Given the description of an element on the screen output the (x, y) to click on. 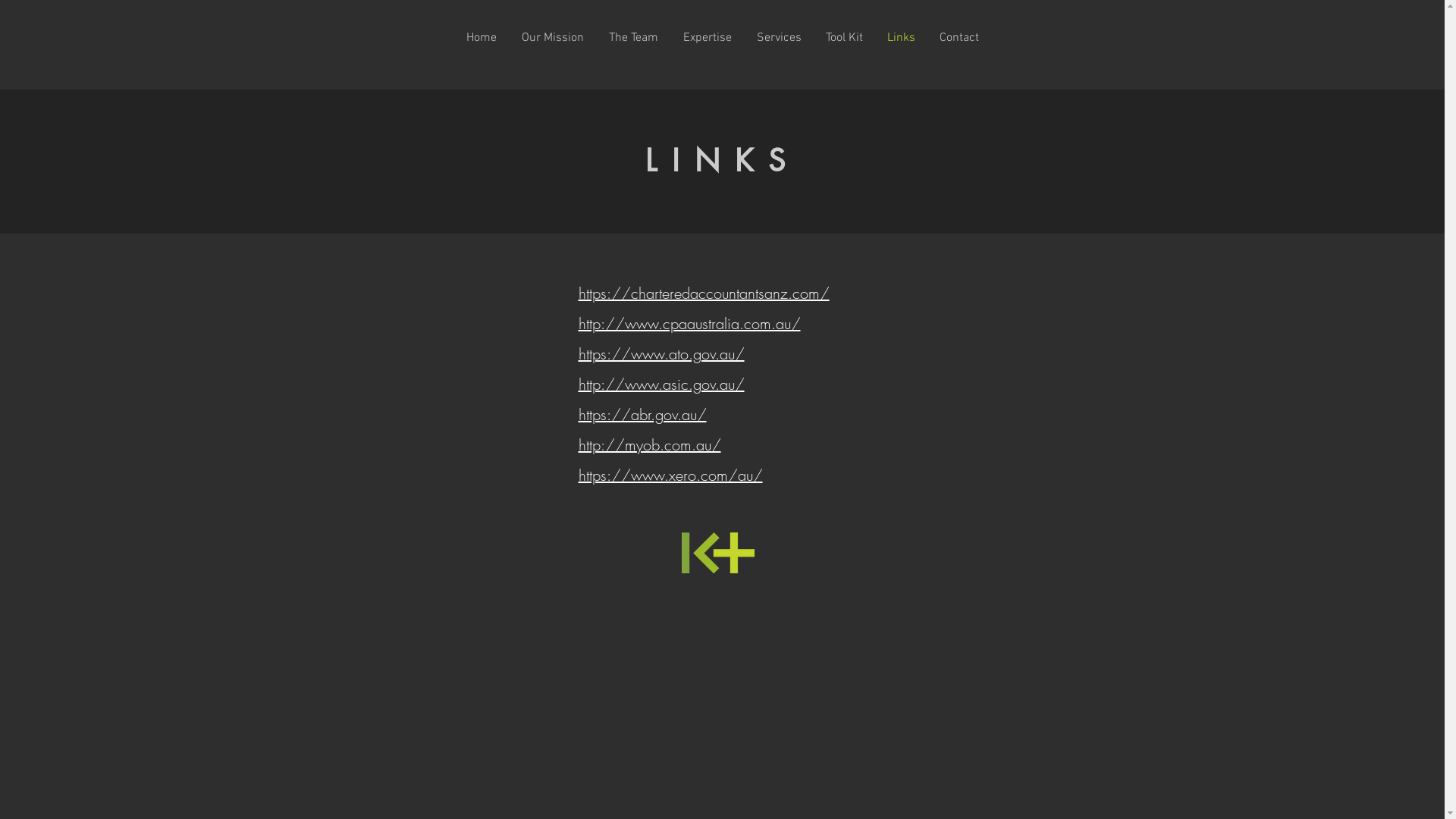
Expertise Element type: text (706, 37)
http://www.asic.gov.au/ Element type: text (660, 383)
Tool Kit Element type: text (843, 37)
Home Element type: text (480, 37)
https://charteredaccountantsanz.com/ Element type: text (702, 292)
https://www.ato.gov.au/ Element type: text (660, 353)
Our Mission Element type: text (552, 37)
Contact Element type: text (958, 37)
Services Element type: text (778, 37)
http://myob.com.au/ Element type: text (648, 444)
https://abr.gov.au/ Element type: text (641, 414)
Links Element type: text (901, 37)
http://www.cpaaustralia.com.au/ Element type: text (688, 323)
https://www.xero.com/au/ Element type: text (669, 474)
The Team Element type: text (633, 37)
